Given the description of an element on the screen output the (x, y) to click on. 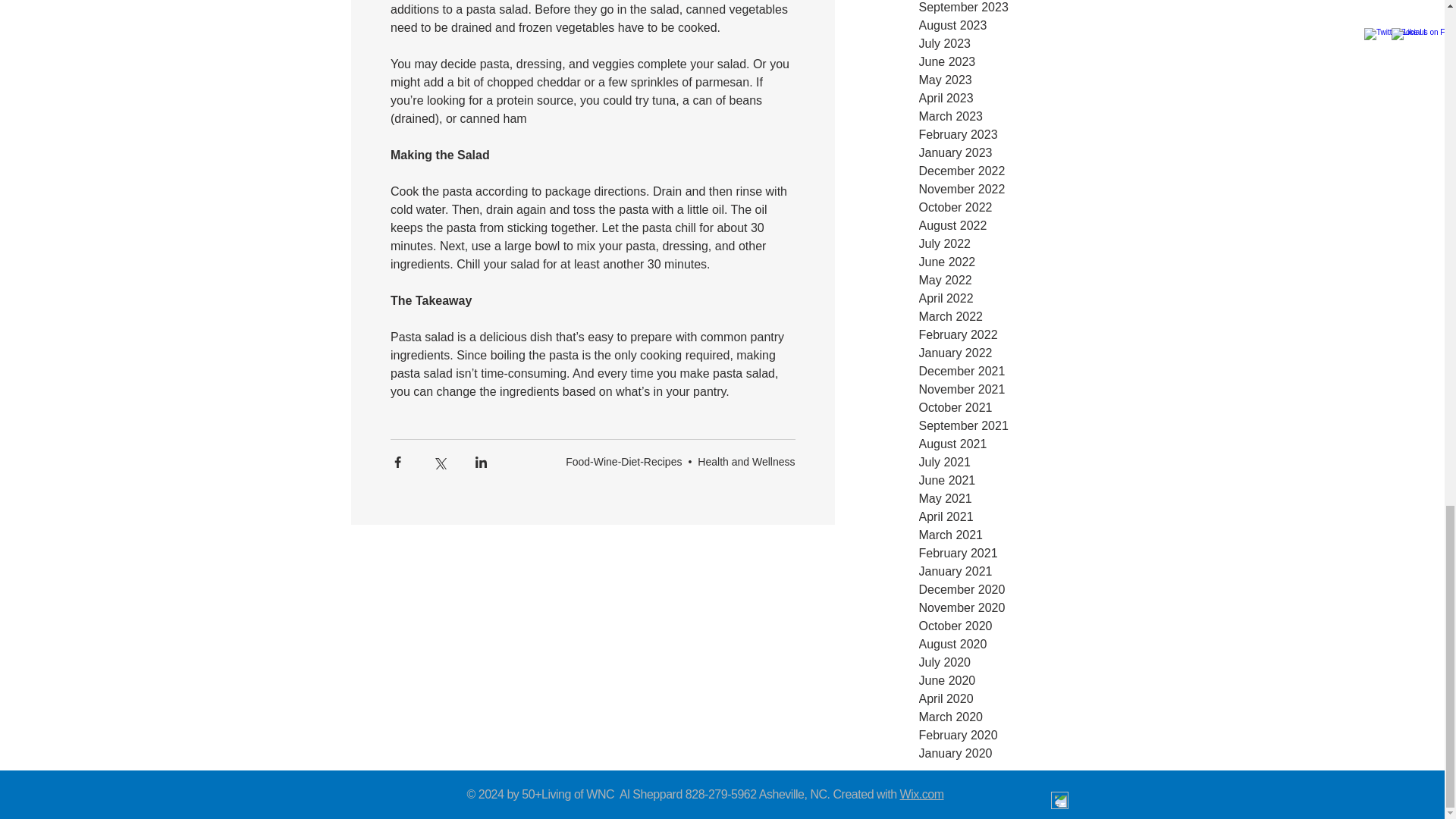
Health and Wellness (745, 461)
Food-Wine-Diet-Recipes (623, 461)
